Given the description of an element on the screen output the (x, y) to click on. 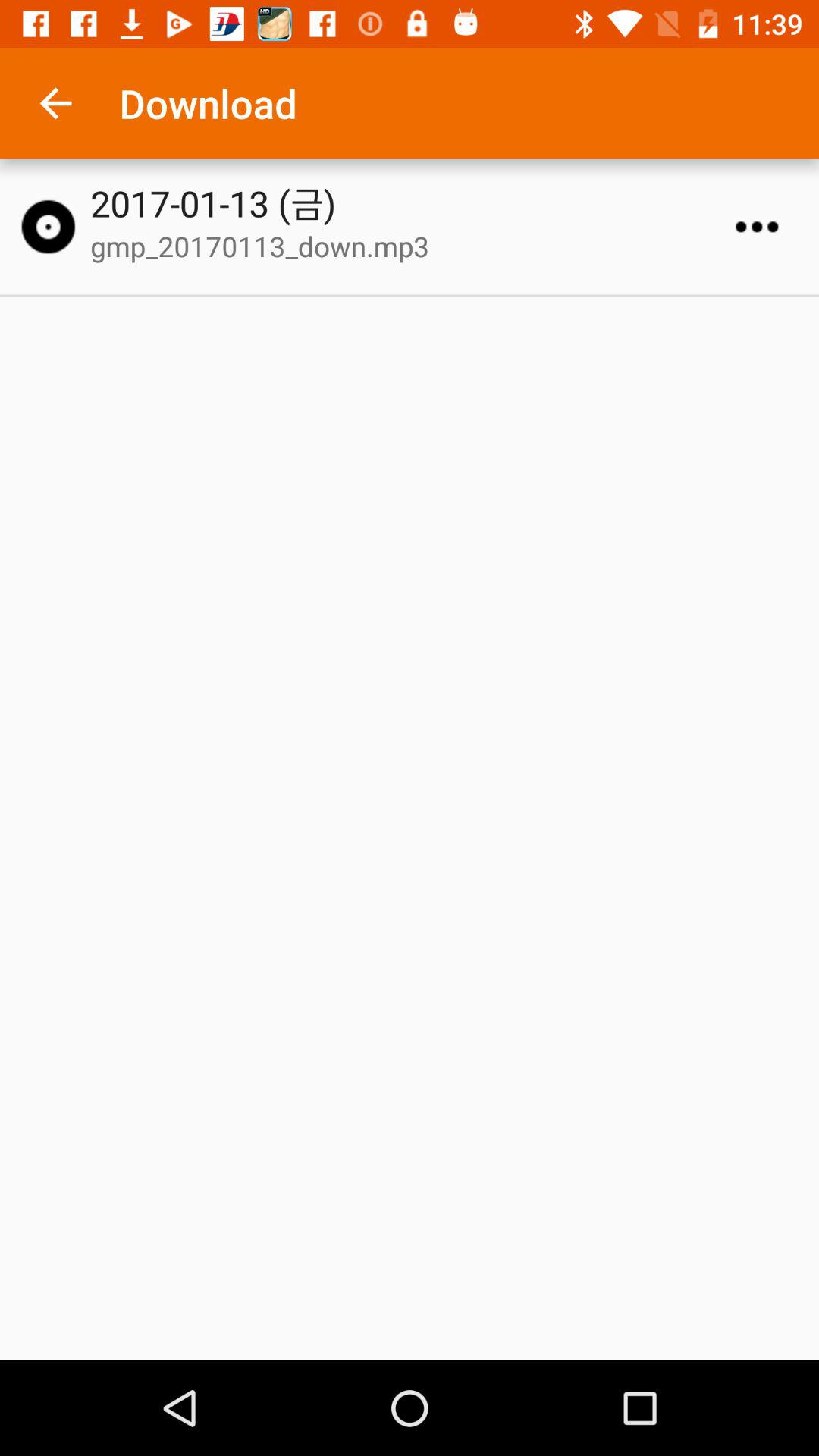
choose the icon next to the 2017 01 13 item (48, 226)
